Given the description of an element on the screen output the (x, y) to click on. 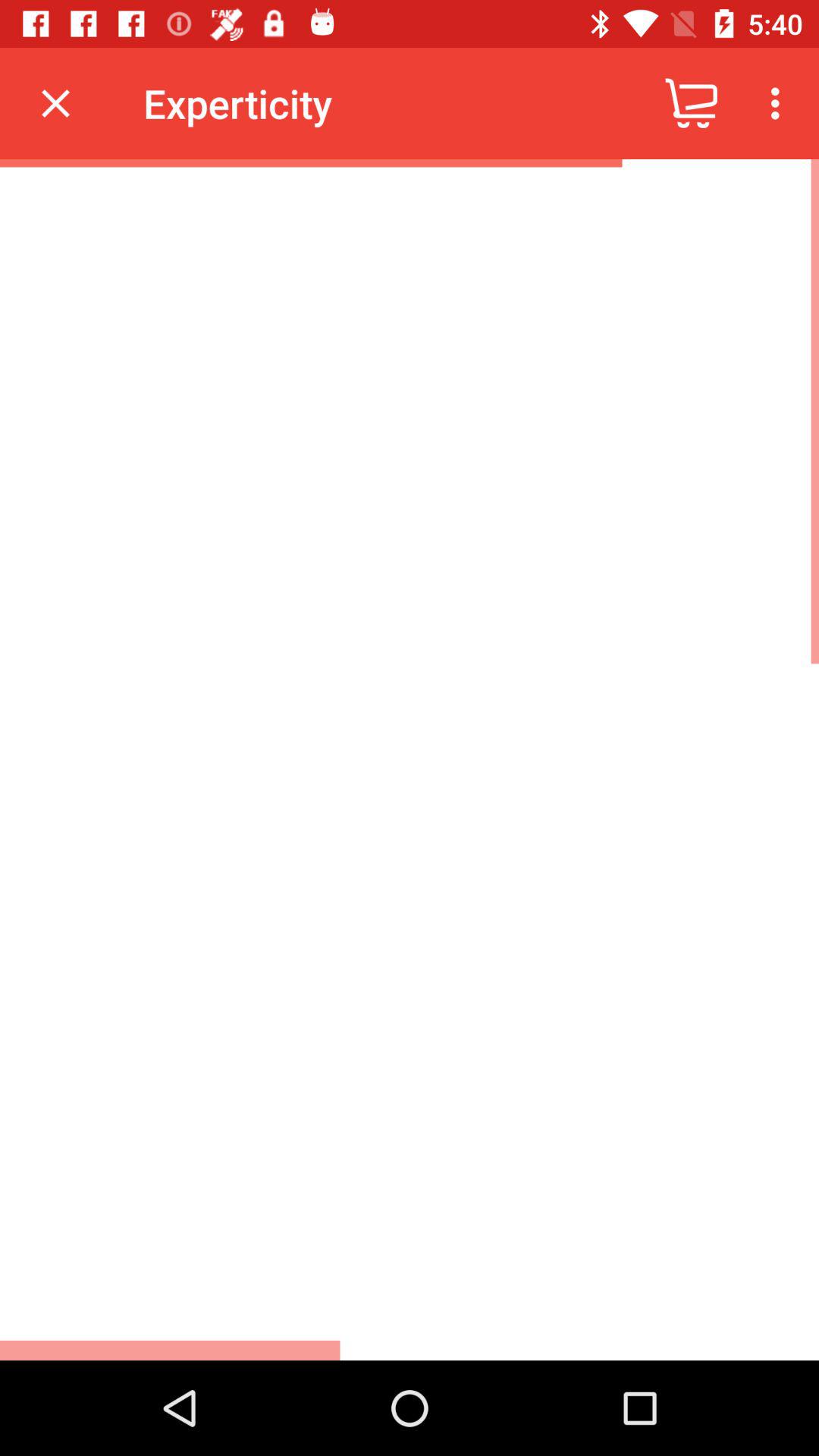
select icon to the left of the experticity (55, 103)
